Given the description of an element on the screen output the (x, y) to click on. 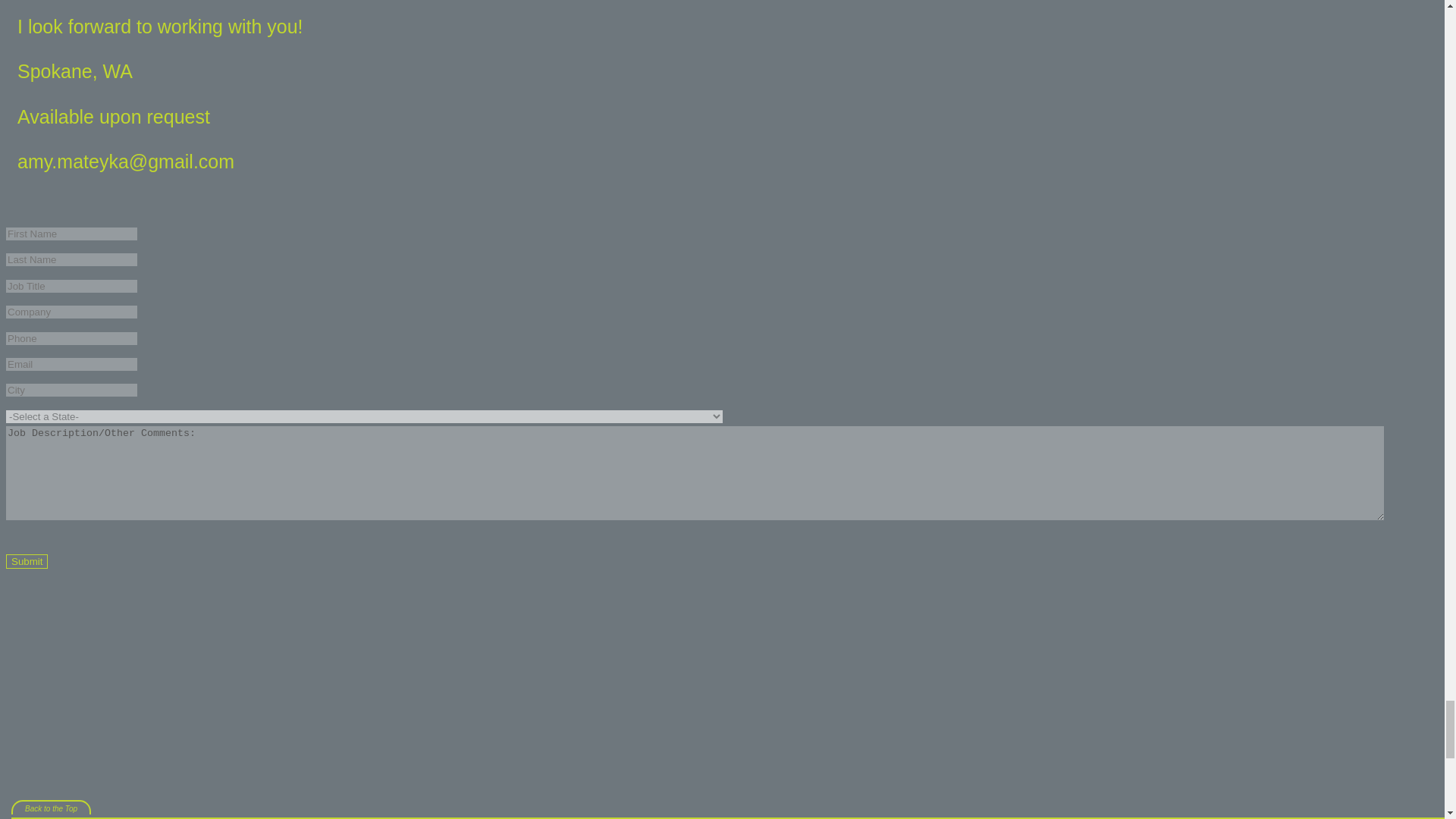
Submit (26, 561)
Submit (26, 561)
